Given the description of an element on the screen output the (x, y) to click on. 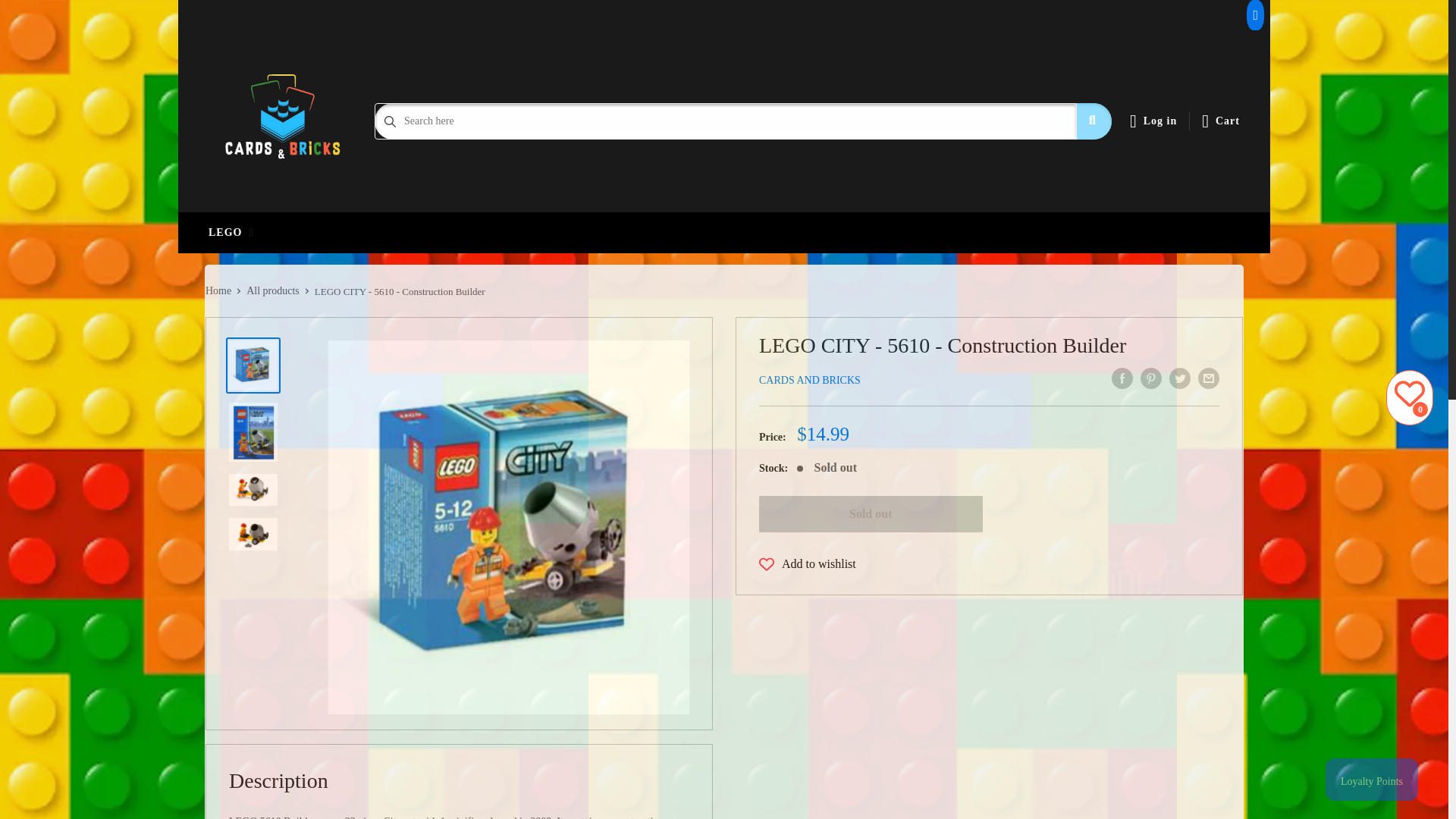
Add to Cart (870, 514)
Cart (1221, 121)
Log in (1152, 121)
Search (1094, 121)
